Given the description of an element on the screen output the (x, y) to click on. 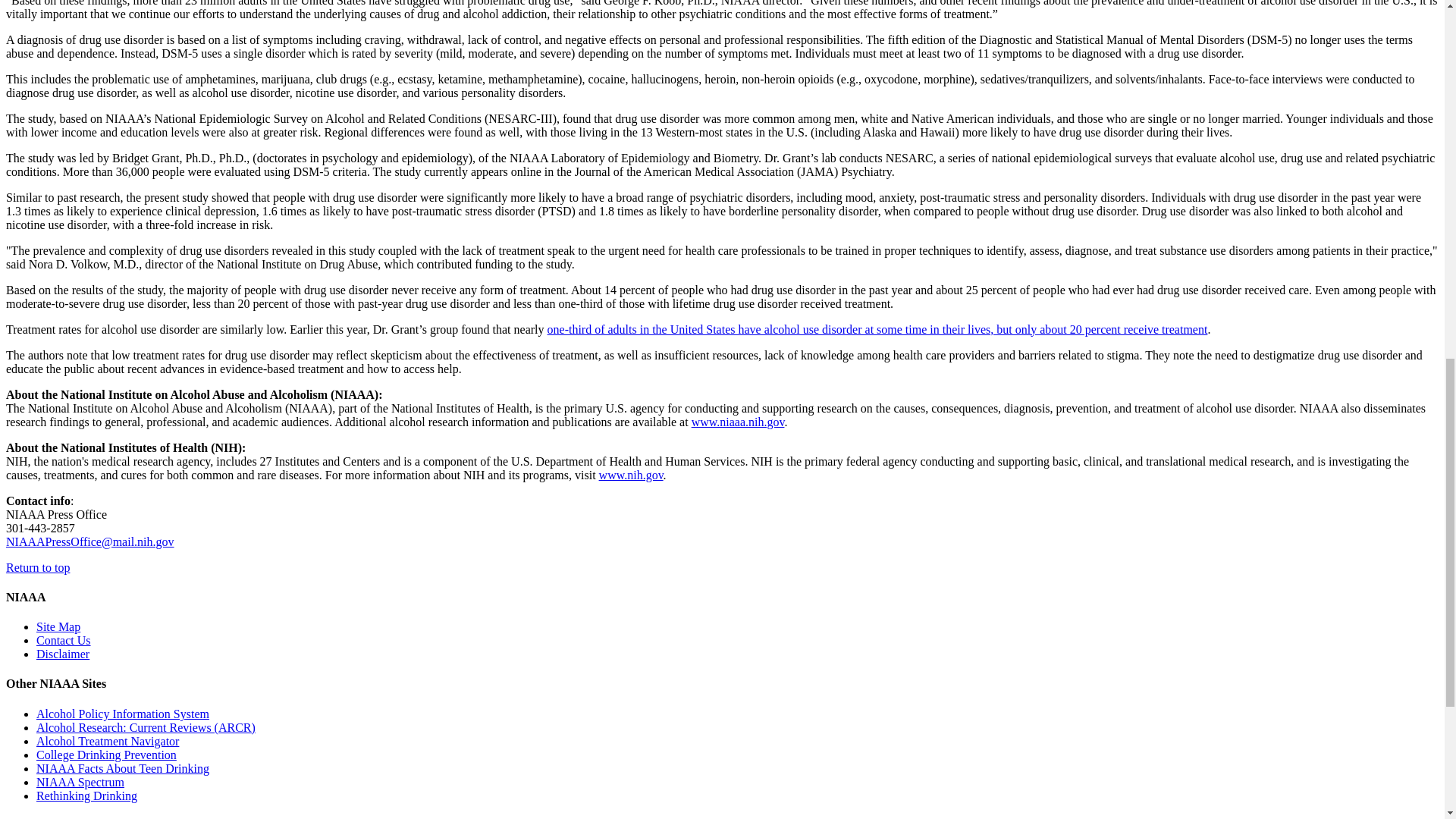
Alcohol Policy Information System (122, 713)
Rethinking Drinking (86, 795)
Site Map (58, 626)
NIAAA Facts About Teen Drinking (122, 768)
Alcohol Treatment Navigator (107, 740)
Return to top (37, 567)
www.niaaa.nih.gov (737, 421)
NIAAA Spectrum (79, 781)
NIAAA Spectrum (79, 781)
College Drinking Prevention (106, 754)
